Given the description of an element on the screen output the (x, y) to click on. 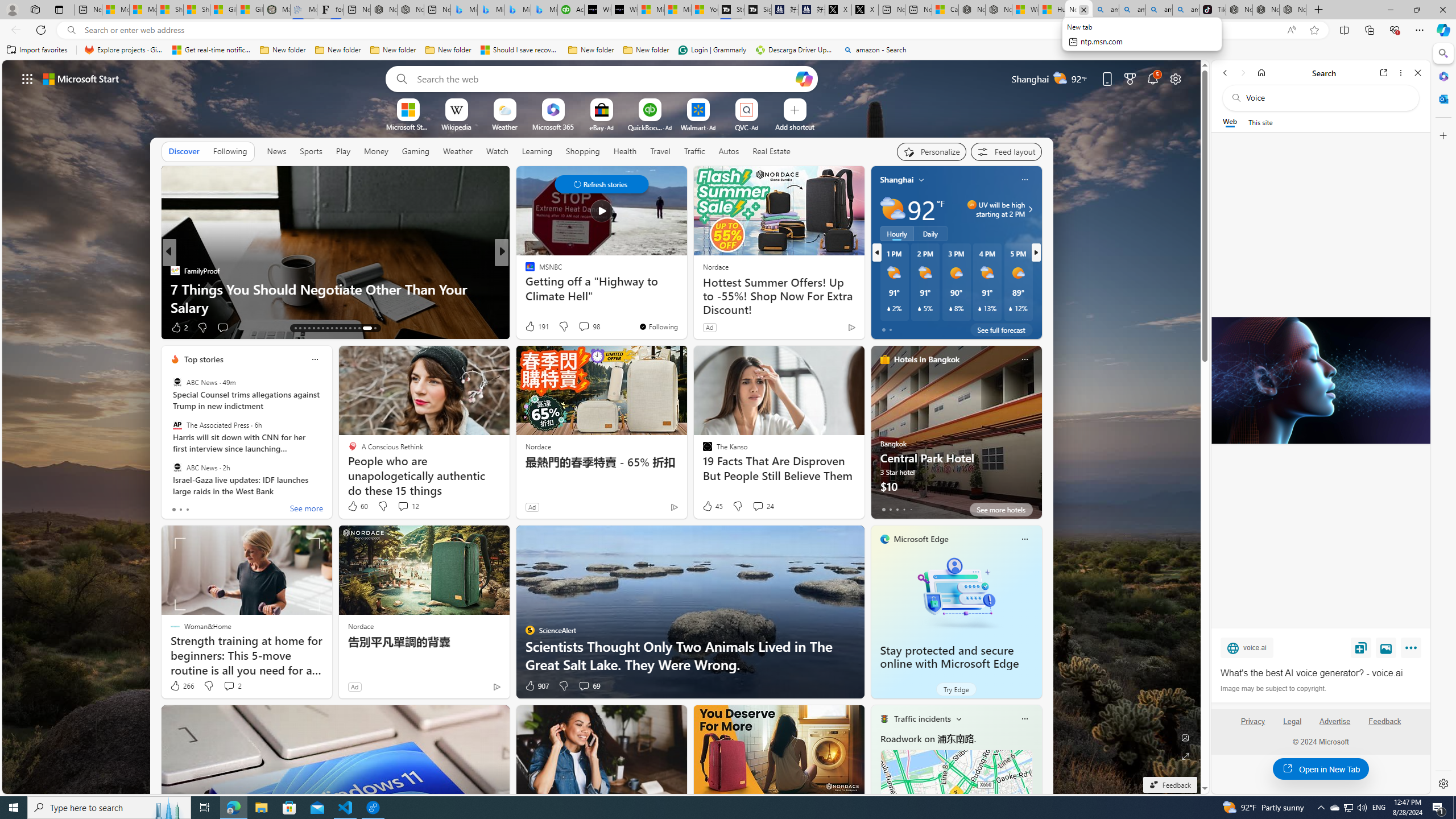
Advertise (1335, 721)
View comments 2 Comment (228, 685)
AutomationID: tab-14 (299, 328)
tab-1 (889, 509)
tab-4 (910, 509)
Weather (457, 151)
Health (624, 151)
Health (624, 151)
Legal (1292, 725)
Traffic incidents (921, 718)
New folder (646, 49)
View comments 69 Comment (583, 685)
